Given the description of an element on the screen output the (x, y) to click on. 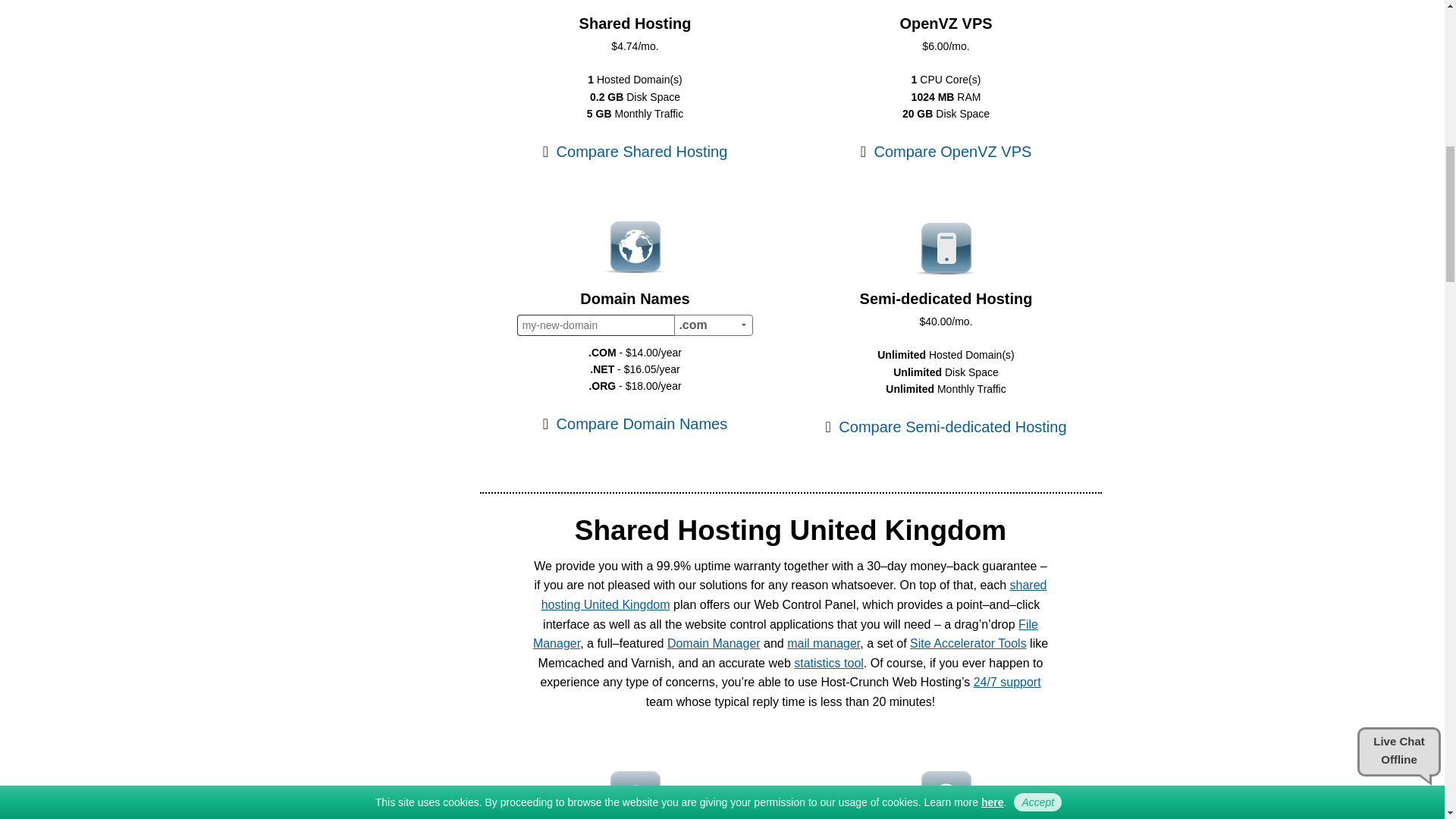
Compare OpenVZ VPS (946, 151)
Domain Manager (713, 643)
OpenVZ VPS (945, 21)
File Manager (785, 634)
statistics tool (828, 662)
Site Accelerator Tools (968, 643)
Domain Names (634, 296)
shared hosting United Kingdom (793, 594)
Shared Hosting (635, 21)
mail manager (823, 643)
Compare Shared Hosting (635, 151)
